Given the description of an element on the screen output the (x, y) to click on. 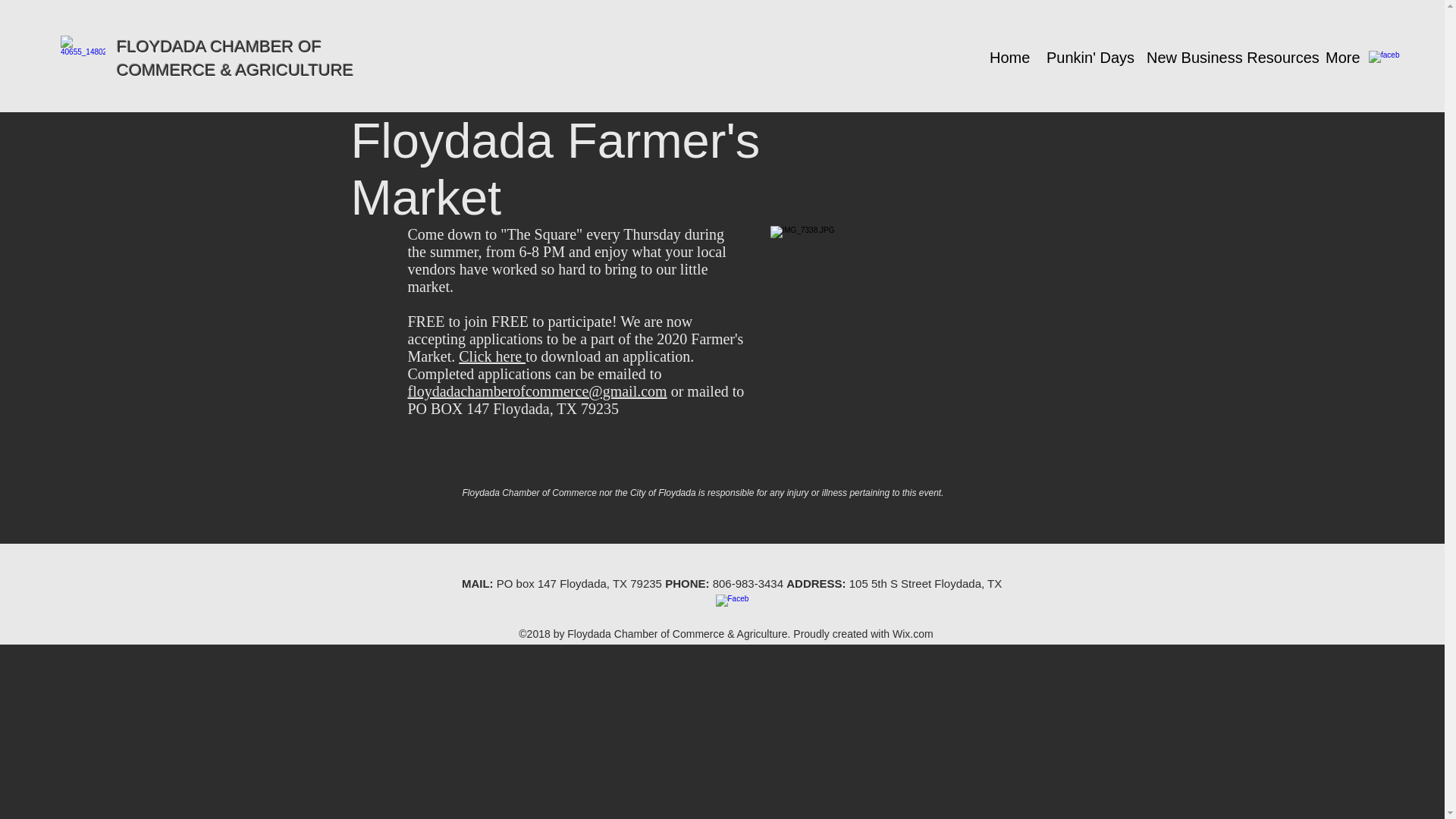
Home (1006, 57)
Punkin' Days (1085, 57)
New Business Resources (1224, 57)
Click here (491, 356)
